Given the description of an element on the screen output the (x, y) to click on. 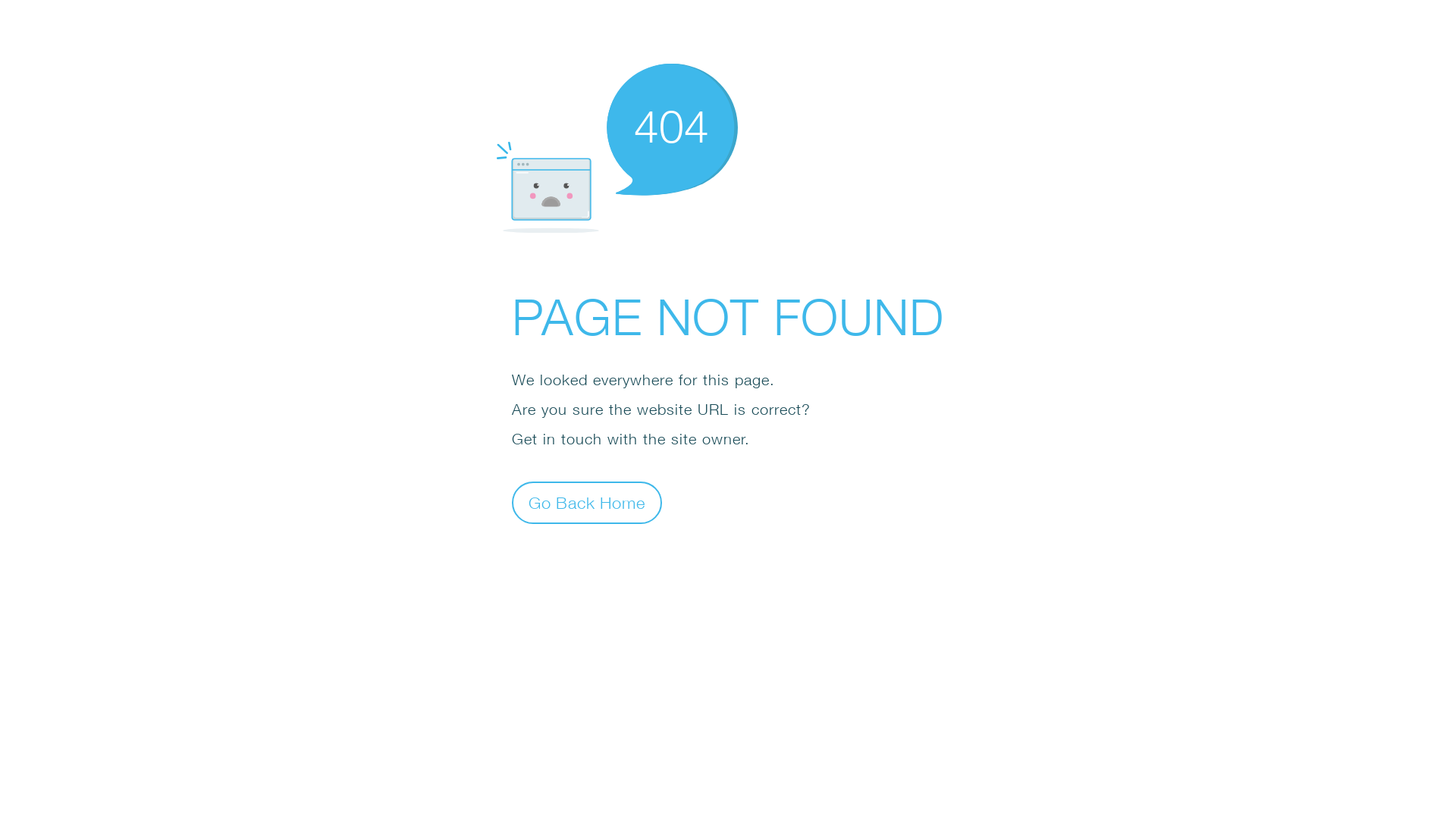
Go Back Home Element type: text (586, 502)
